Given the description of an element on the screen output the (x, y) to click on. 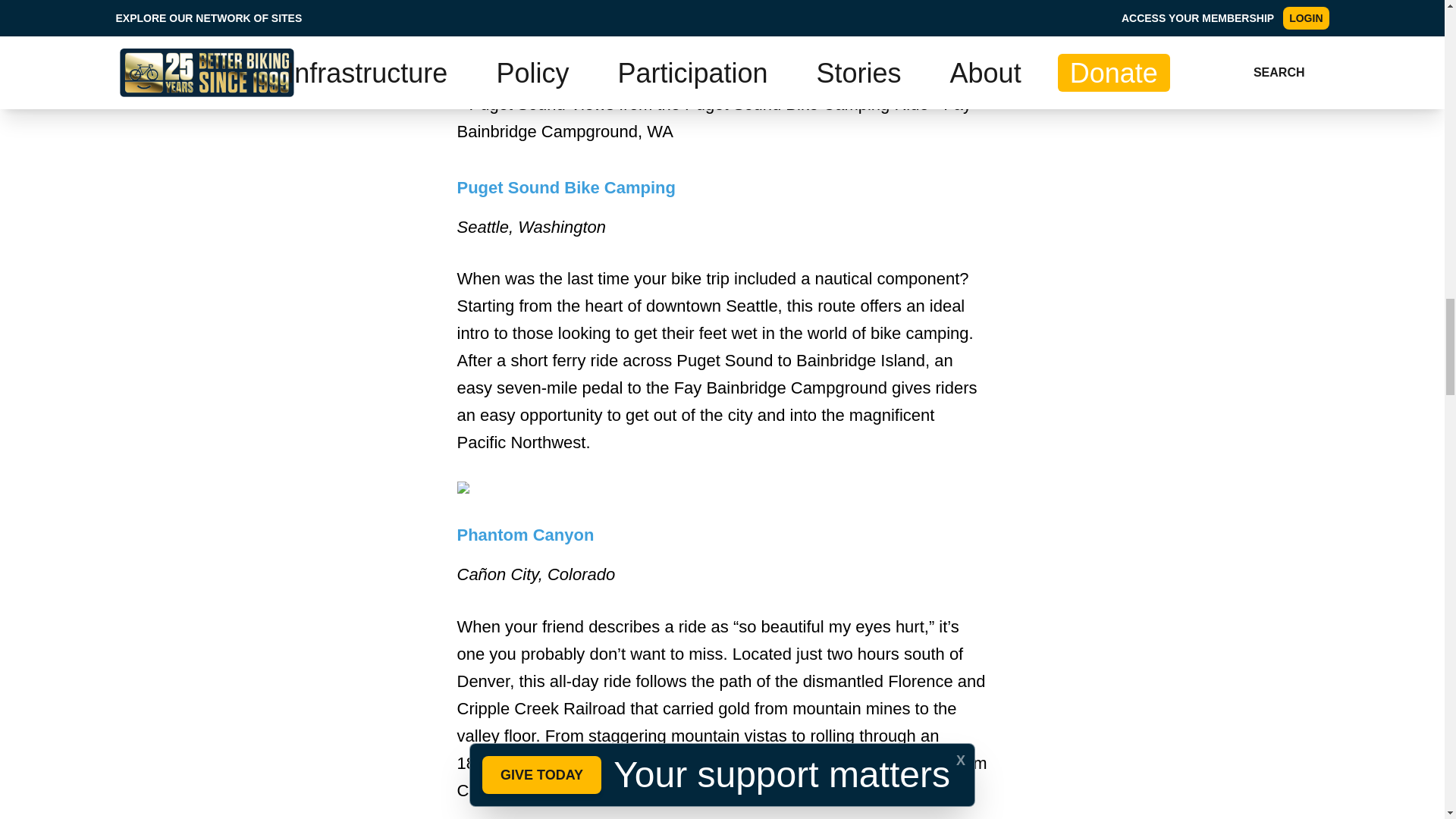
Phantom Canyon (525, 534)
Puget Sound Bike Camping (566, 187)
